Given the description of an element on the screen output the (x, y) to click on. 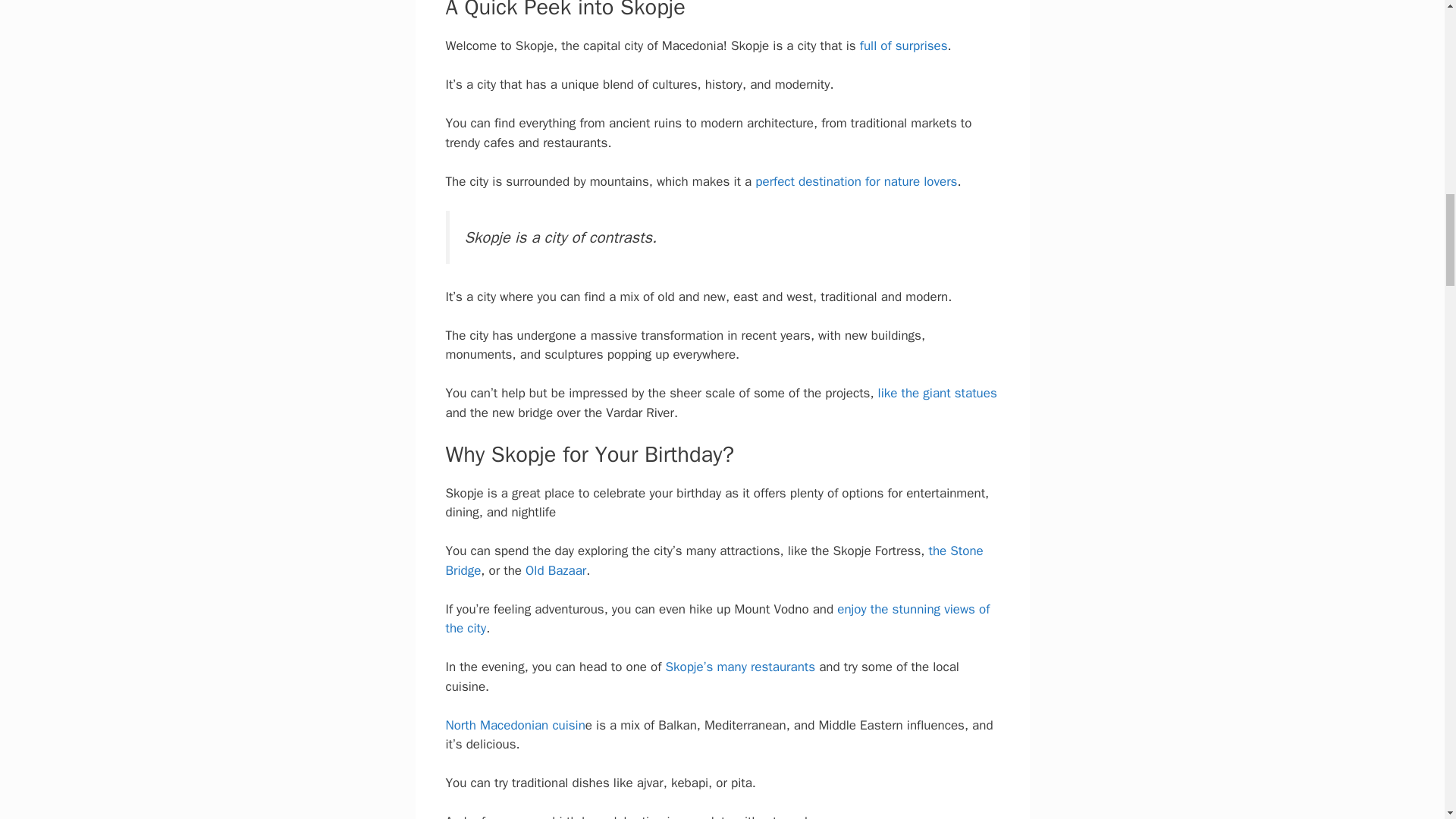
like the giant statues (937, 392)
the Stone Bridge (714, 560)
enjoy the stunning views of the city (717, 619)
North Macedonian cuisin (515, 725)
perfect destination for nature lovers (855, 181)
Old Bazaar (555, 570)
full of surprises (903, 45)
